Given the description of an element on the screen output the (x, y) to click on. 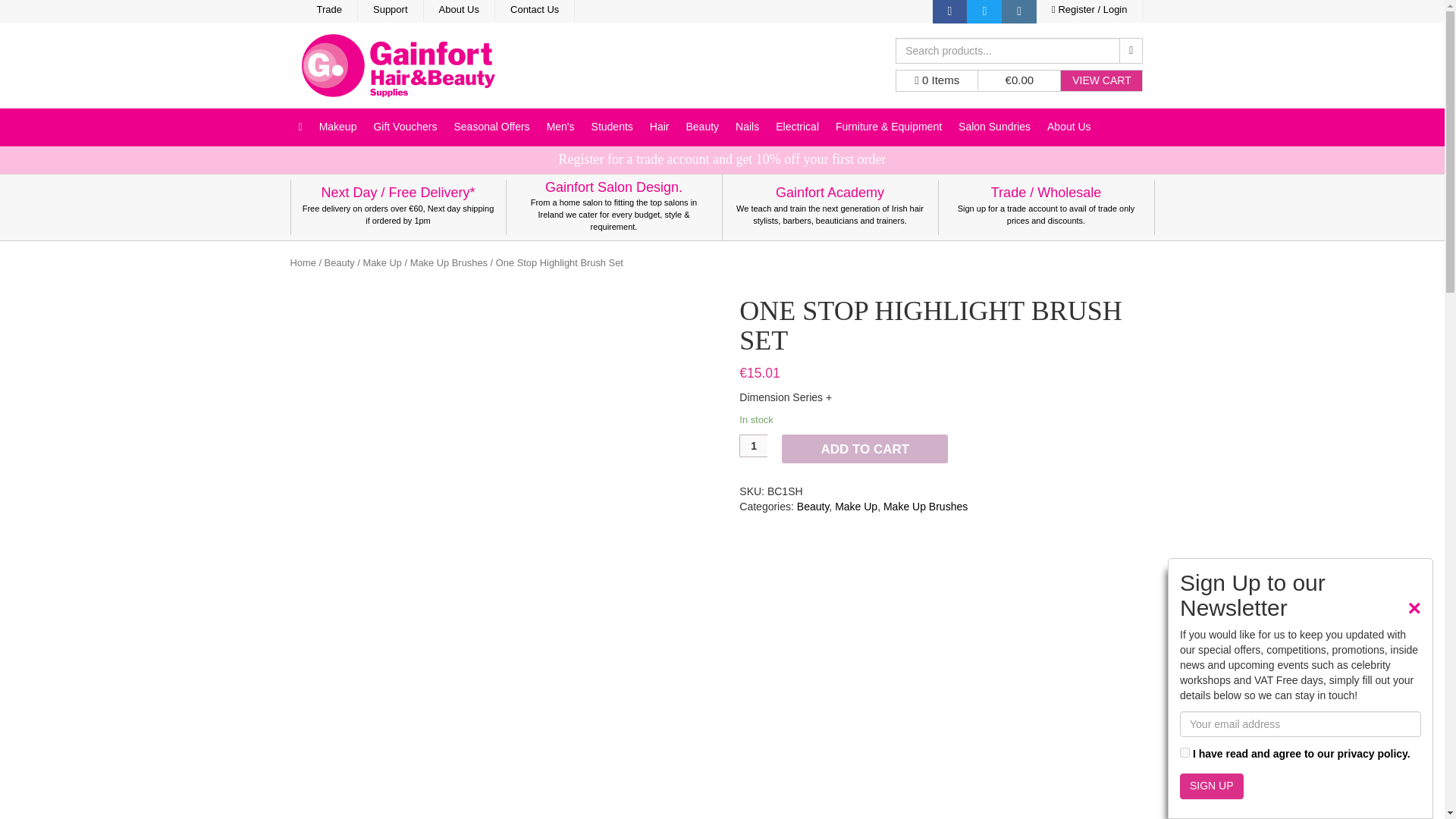
About Us (459, 10)
Students (612, 127)
Support (390, 10)
Men's (560, 127)
Seasonal Offers (491, 127)
Makeup (338, 127)
Sign up (1211, 786)
Gift Vouchers (405, 127)
1 (1184, 752)
Contact Us (535, 10)
